Given the description of an element on the screen output the (x, y) to click on. 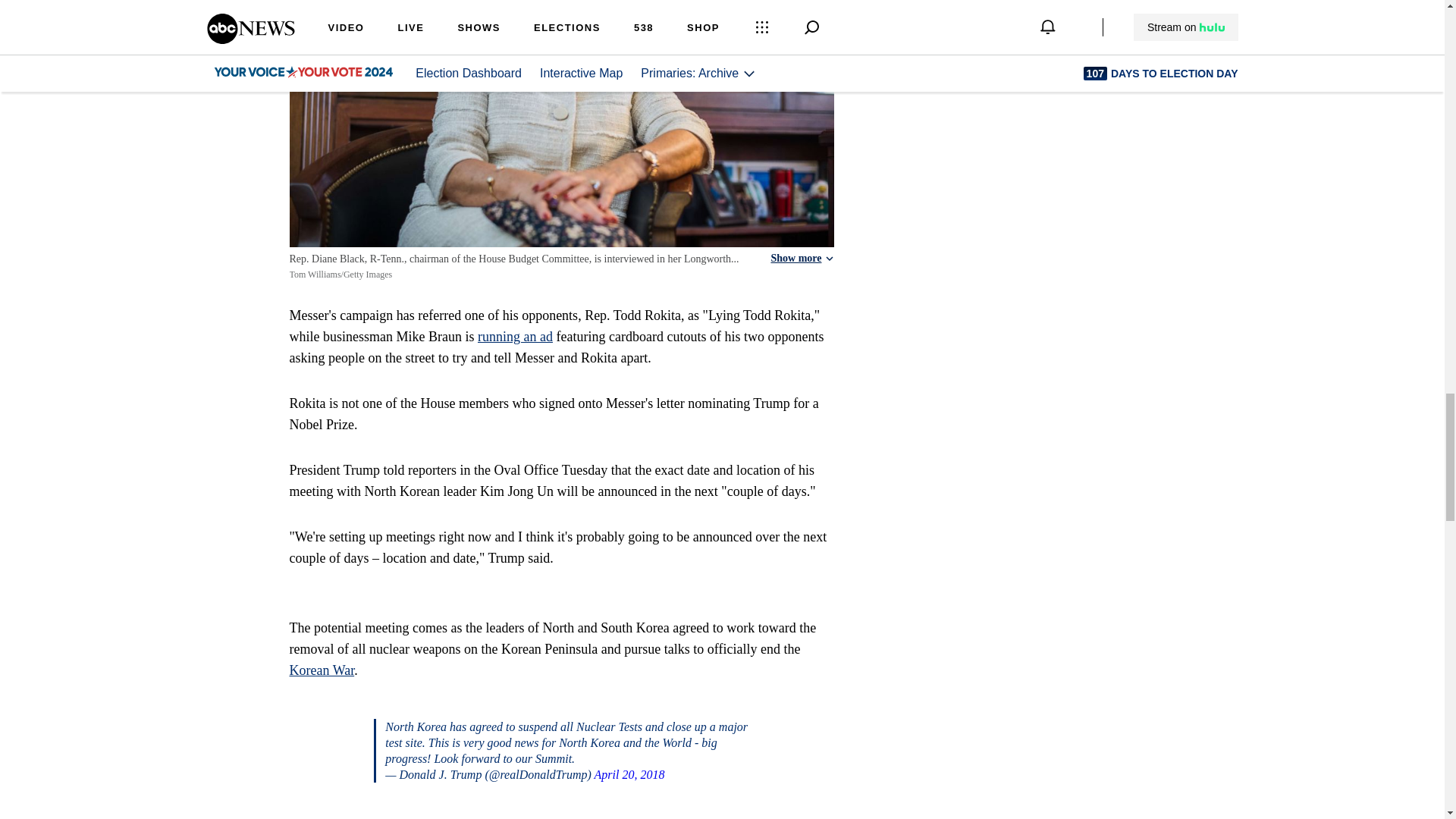
Show more (801, 258)
running an ad (515, 336)
